Given the description of an element on the screen output the (x, y) to click on. 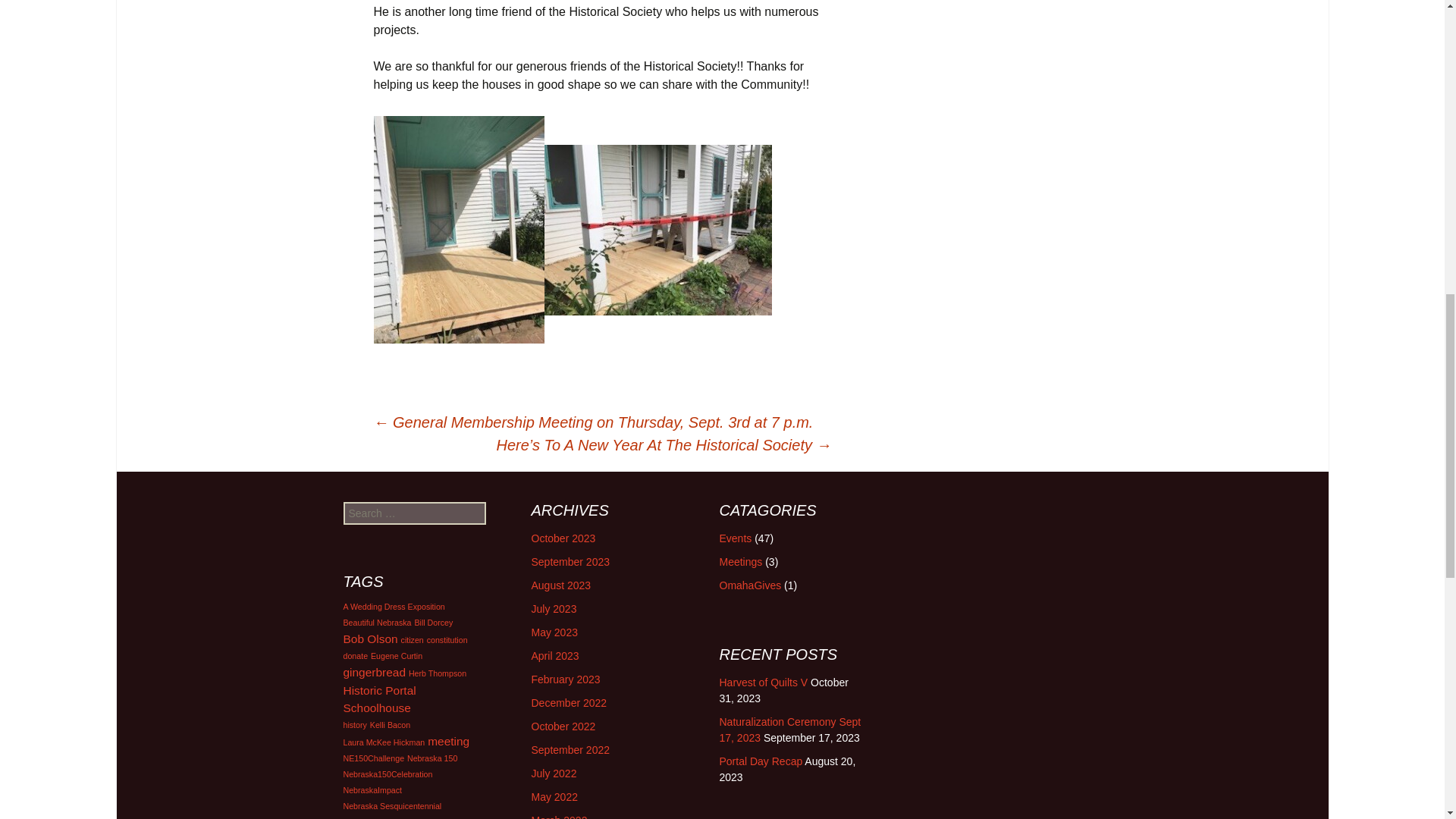
May 2023 (553, 632)
October 2022 (563, 726)
July 2022 (553, 773)
February 2023 (565, 679)
December 2022 (569, 702)
September 2023 (570, 562)
August 2023 (561, 585)
April 2023 (554, 655)
October 2023 (563, 538)
September 2022 (570, 749)
